Given the description of an element on the screen output the (x, y) to click on. 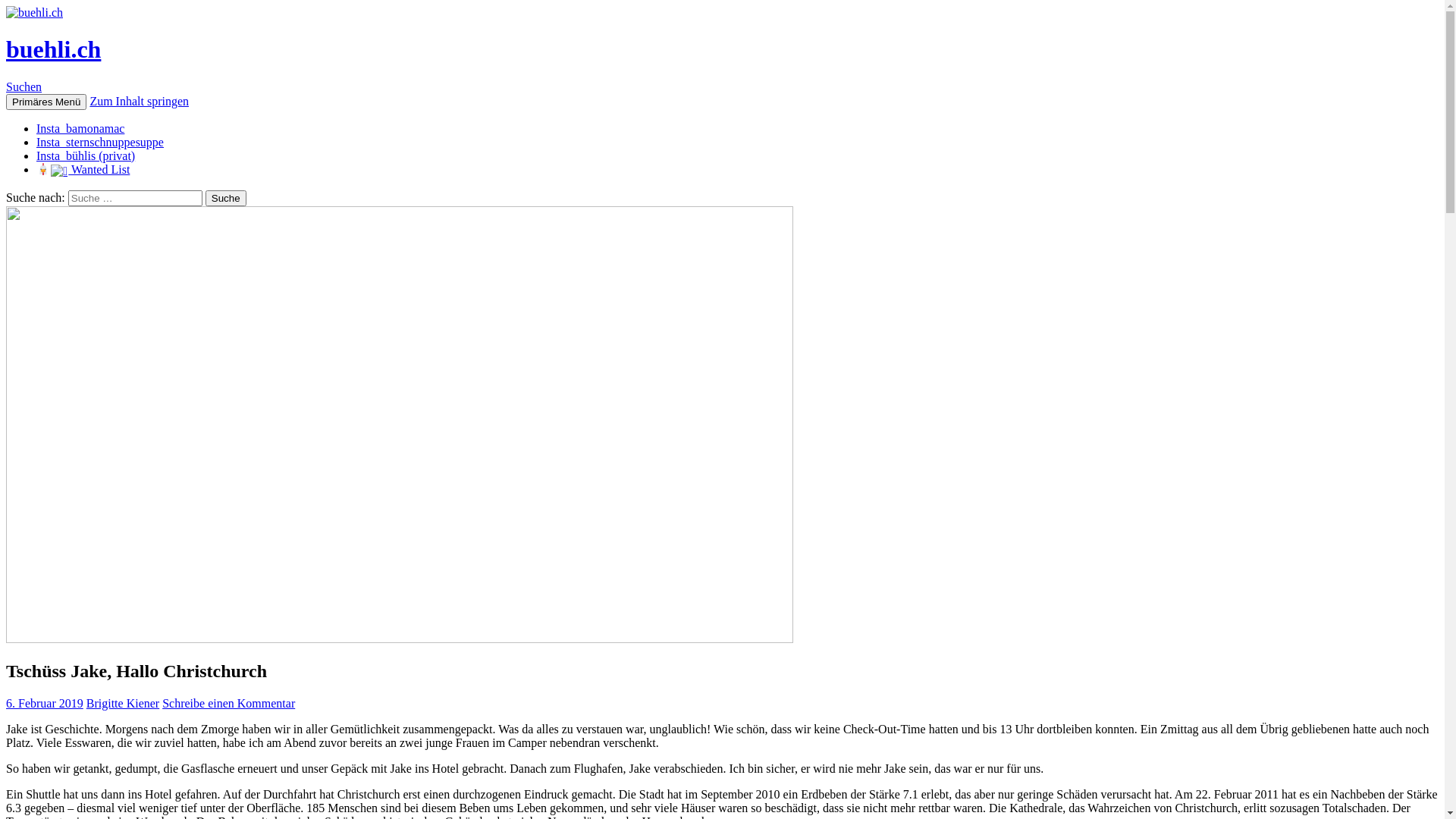
buehli.ch Element type: text (53, 48)
Suchen Element type: text (23, 86)
Insta_sternschnuppesuppe Element type: text (99, 141)
Insta_bamonamac Element type: text (80, 128)
Zum Inhalt springen Element type: text (138, 100)
6. Februar 2019 Element type: text (44, 702)
Brigitte Kiener Element type: text (122, 702)
Schreibe einen Kommentar Element type: text (228, 702)
Suche Element type: text (225, 198)
Wanted List Element type: text (82, 169)
